Given the description of an element on the screen output the (x, y) to click on. 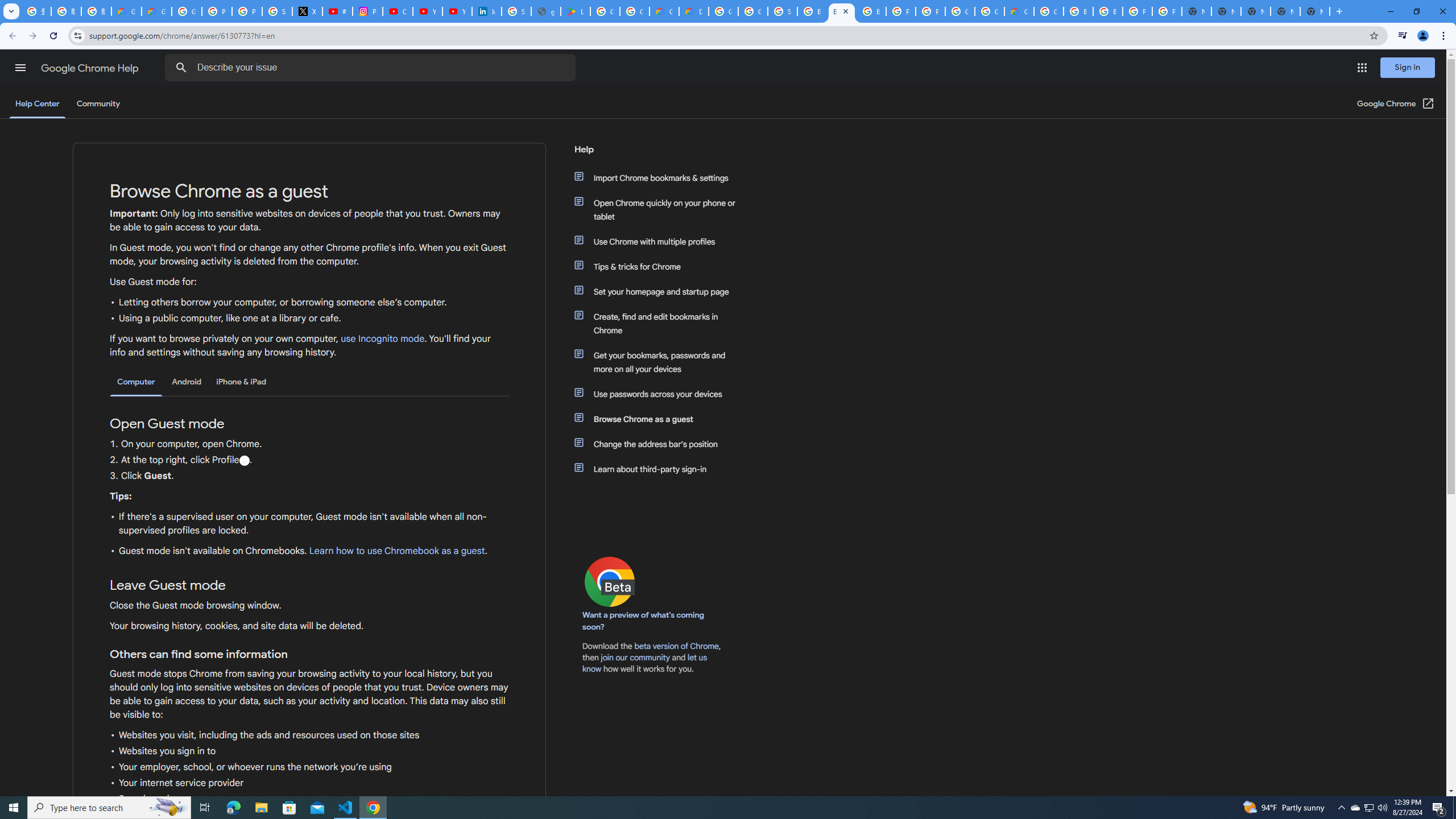
Close (845, 11)
Reload (52, 35)
You (1422, 35)
Google Cloud Platform (989, 11)
Use passwords across your devices (661, 394)
Google Cloud Privacy Notice (126, 11)
System (6, 6)
New Tab (1338, 11)
Search tabs (10, 11)
Get your bookmarks, passwords and more on all your devices (661, 362)
Describe your issue (371, 67)
Privacy Help Center - Policies Help (247, 11)
